Given the description of an element on the screen output the (x, y) to click on. 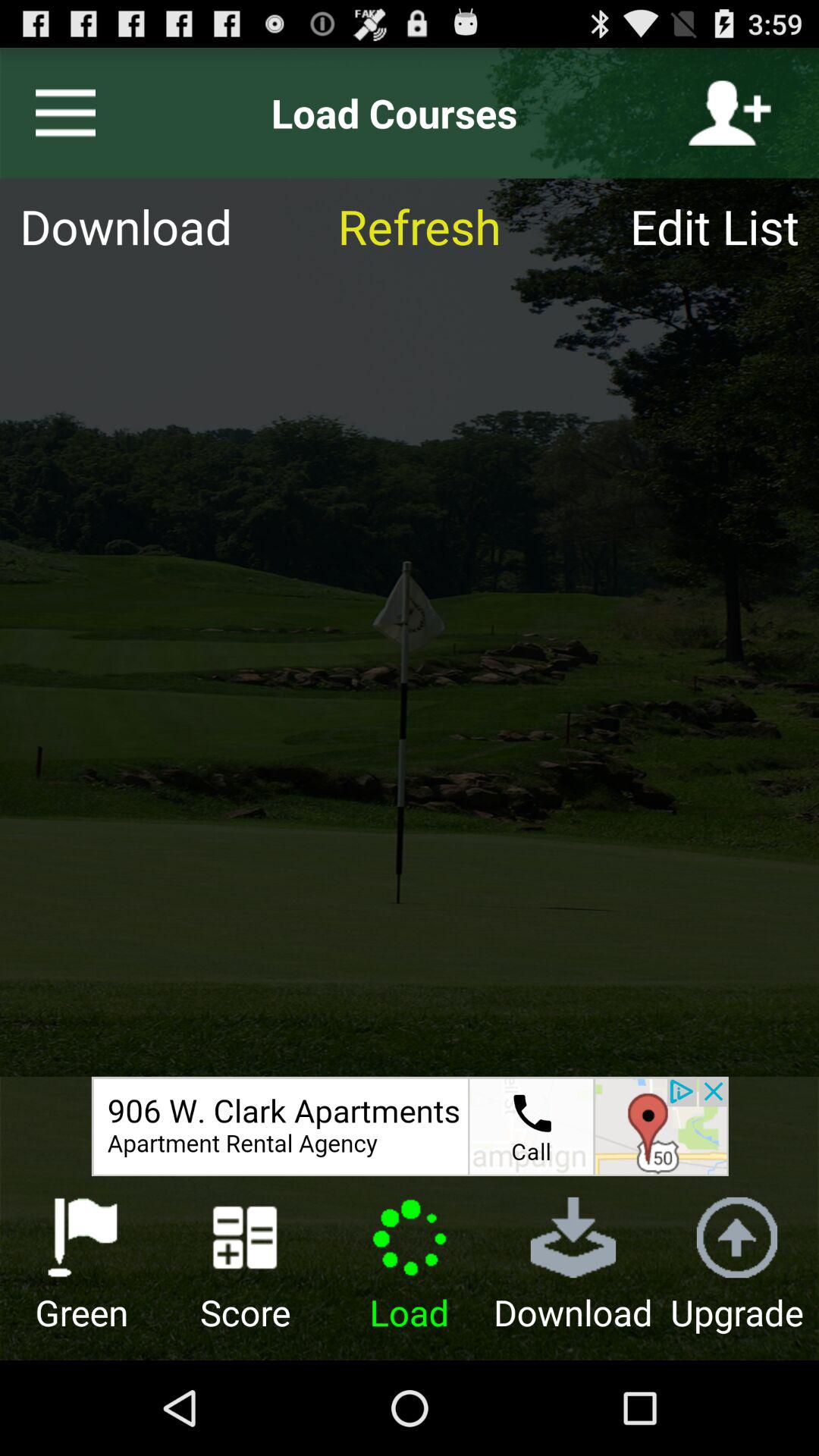
expand menu (59, 112)
